Given the description of an element on the screen output the (x, y) to click on. 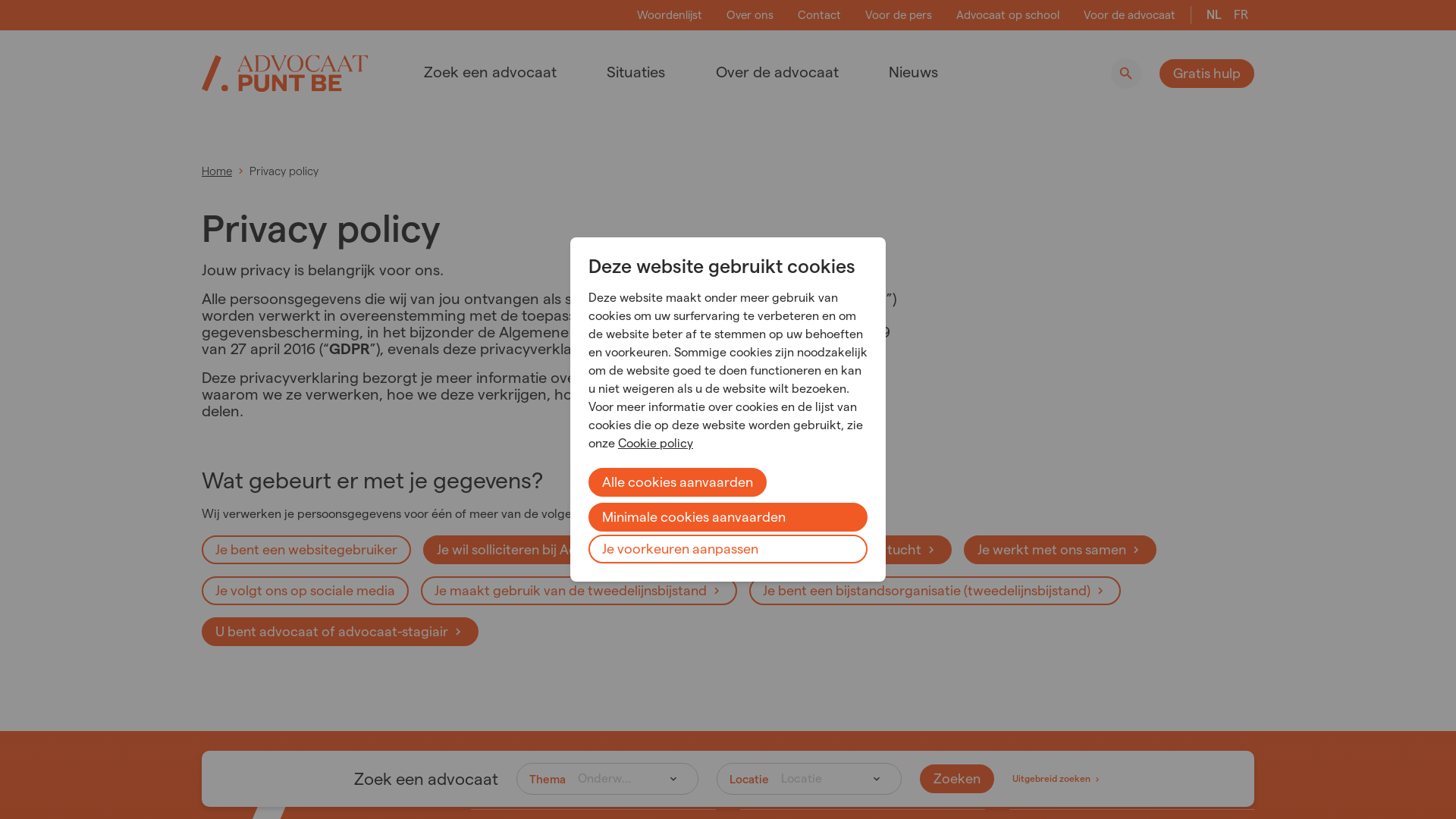
Je voorkeuren aanpassen Element type: text (727, 548)
Home Element type: text (216, 170)
Situaties Element type: text (626, 71)
Relatie en gezin Element type: text (862, 788)
Zoek een advocaat Element type: text (592, 788)
Voor de advocaat Element type: text (1129, 14)
Zoeken Element type: text (1125, 73)
Contact Element type: text (818, 14)
Nieuws Element type: text (903, 71)
Woordenlijst Element type: text (669, 14)
Gratis hulp Element type: text (1206, 73)
Je volgt ons op sociale media Element type: text (304, 590)
U bent advocaat of advocaat-stagiair Element type: text (339, 631)
FR Element type: text (1240, 14)
Advocaat op school Element type: text (1007, 14)
Je maakt gebruik van de tweedelijnsbijstand Element type: text (578, 590)
Minimale cookies aanvaarden Element type: text (727, 516)
Privacy policy Element type: text (283, 170)
Je werkt met ons samen Element type: text (1059, 549)
Zoek een advocaat Element type: text (480, 71)
Uitgebreid zoeken Element type: text (1056, 778)
Voor de pers Element type: text (898, 14)
Je bent een websitegebruiker Element type: text (306, 549)
Je wil solliciteren bij Advocaat.be Element type: text (546, 549)
Over ons Element type: text (749, 14)
Over de advocaat Element type: text (767, 71)
Advocaten in Brussel Element type: text (1131, 788)
Je bent een bijstandsorganisatie (tweedelijnsbijstand) Element type: text (934, 590)
Je geeft je gegevens mee voor tucht Element type: text (816, 549)
Zoeken Element type: text (956, 778)
Alle cookies aanvaarden Element type: text (677, 481)
Cookie policy Element type: text (655, 442)
